Given the description of an element on the screen output the (x, y) to click on. 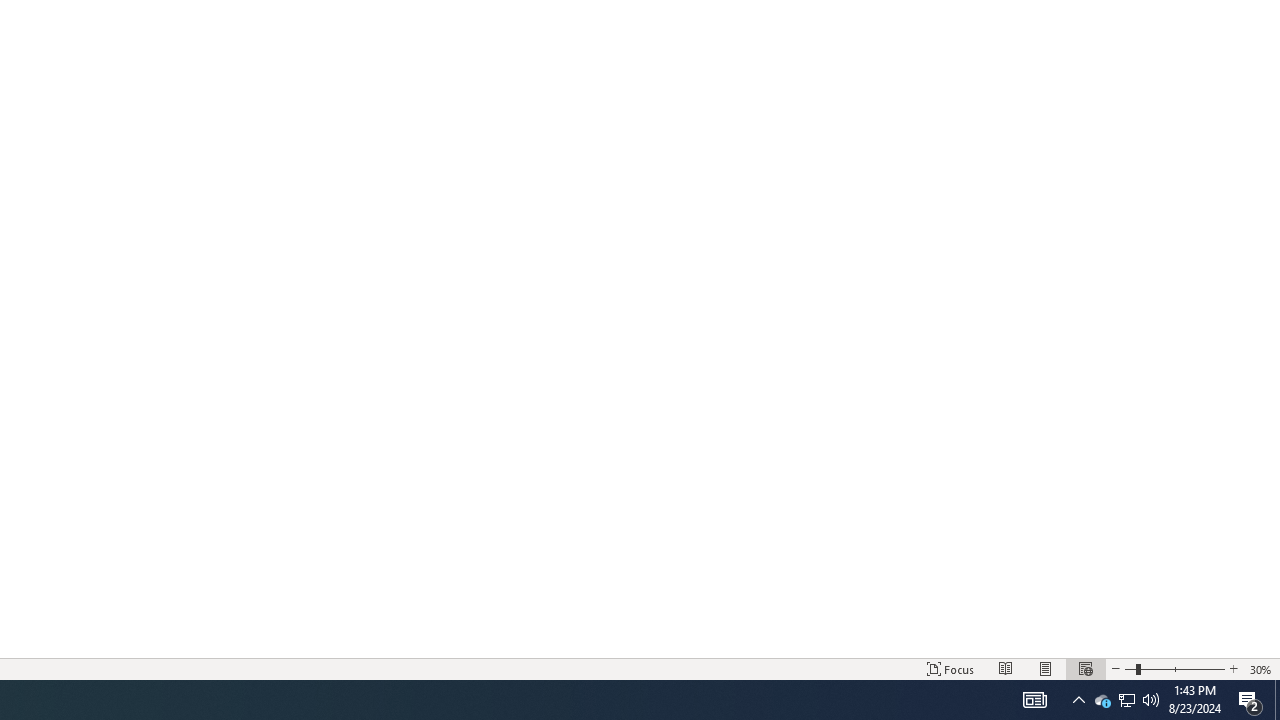
Zoom 30% (1261, 668)
